Given the description of an element on the screen output the (x, y) to click on. 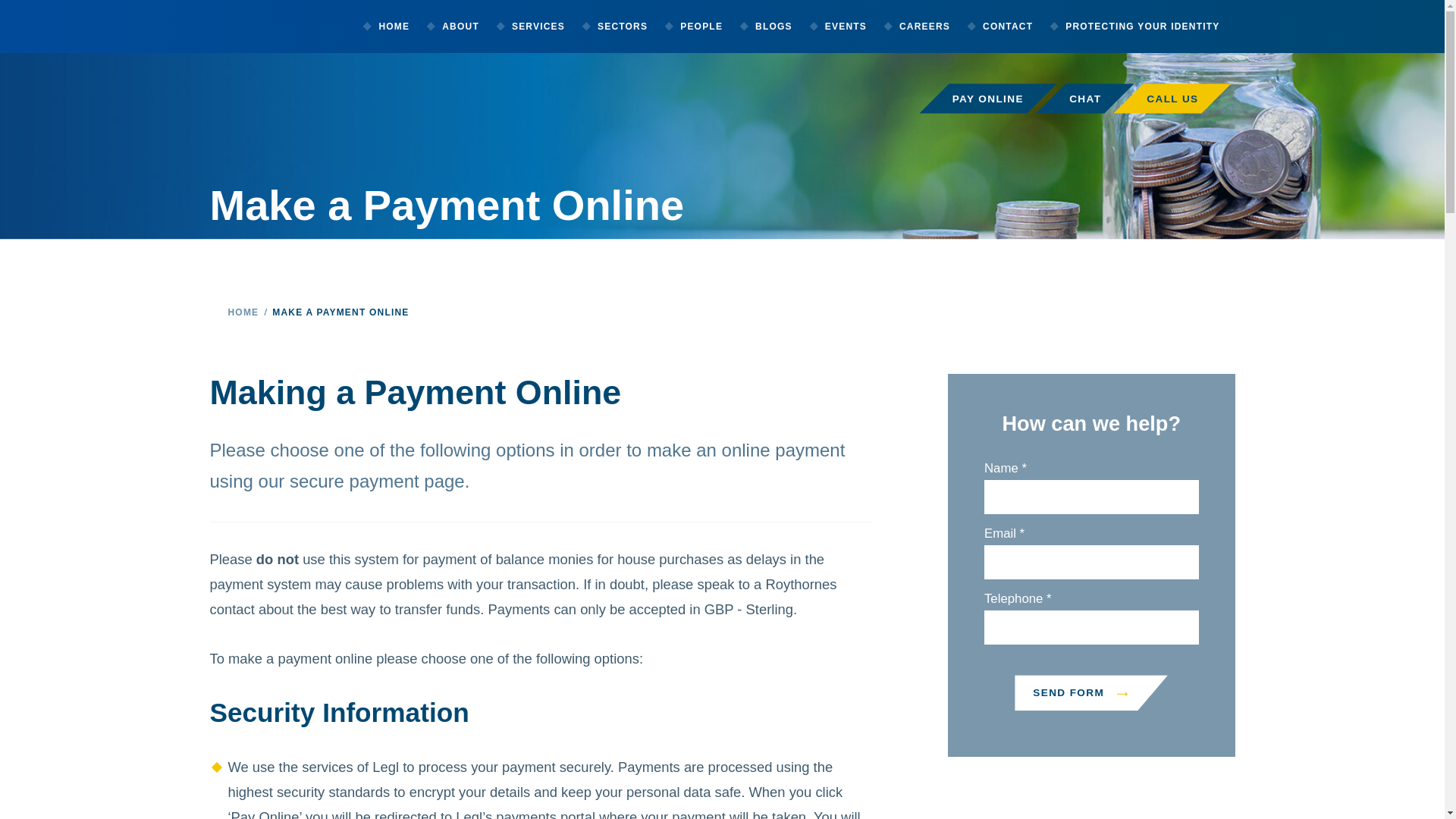
BLOGS (773, 26)
SERVICES (537, 26)
PEOPLE (700, 26)
SECTORS (620, 26)
HOME (393, 26)
ABOUT (460, 26)
Send form (1090, 692)
